Given the description of an element on the screen output the (x, y) to click on. 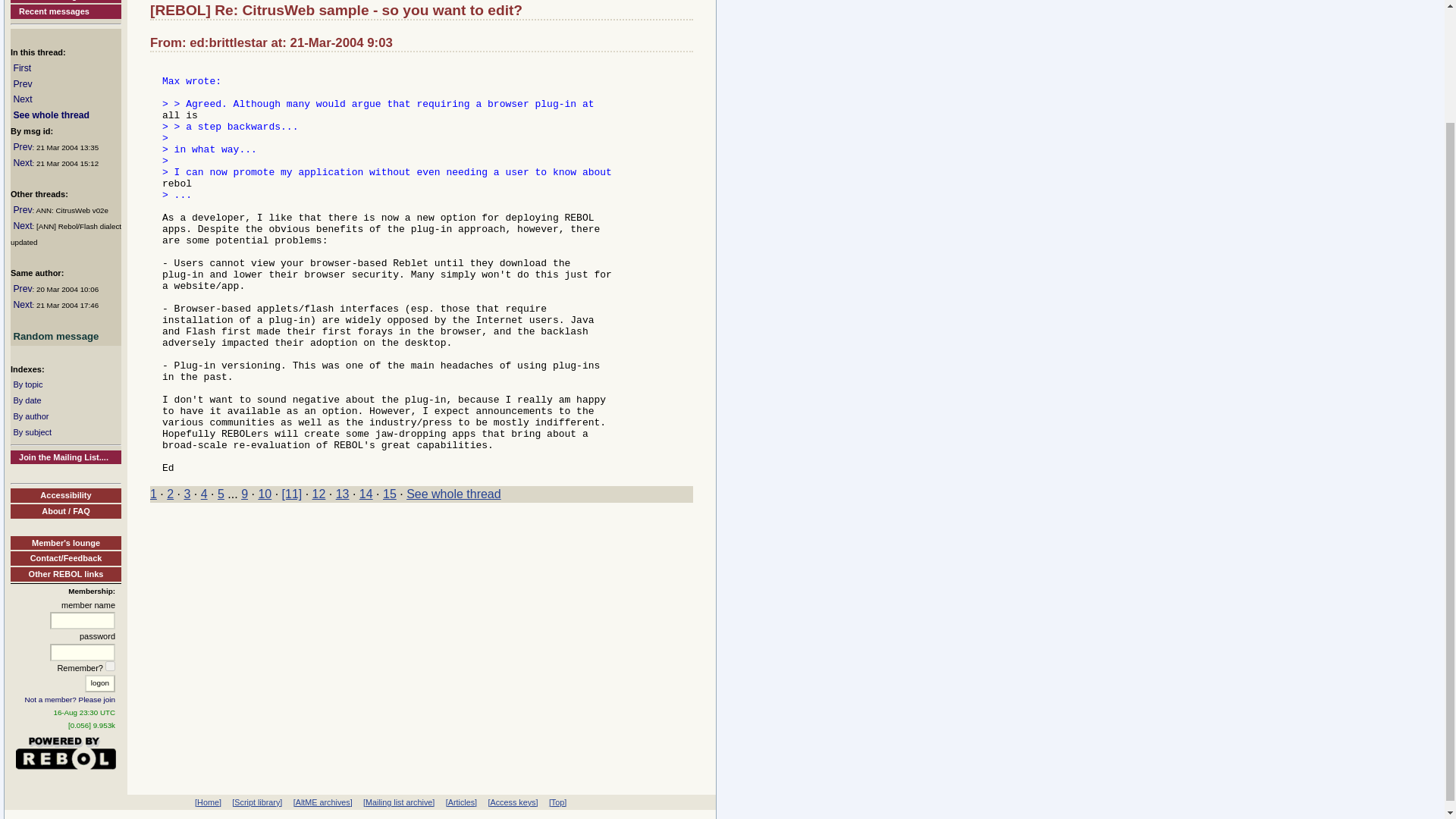
Join the Mailing List.... (65, 457)
Next (22, 99)
See whole thread (50, 114)
Other REBOL links (65, 574)
Prev (22, 288)
By date (26, 399)
Next (22, 163)
Prev (22, 209)
Next (22, 304)
By topic (27, 384)
